Given the description of an element on the screen output the (x, y) to click on. 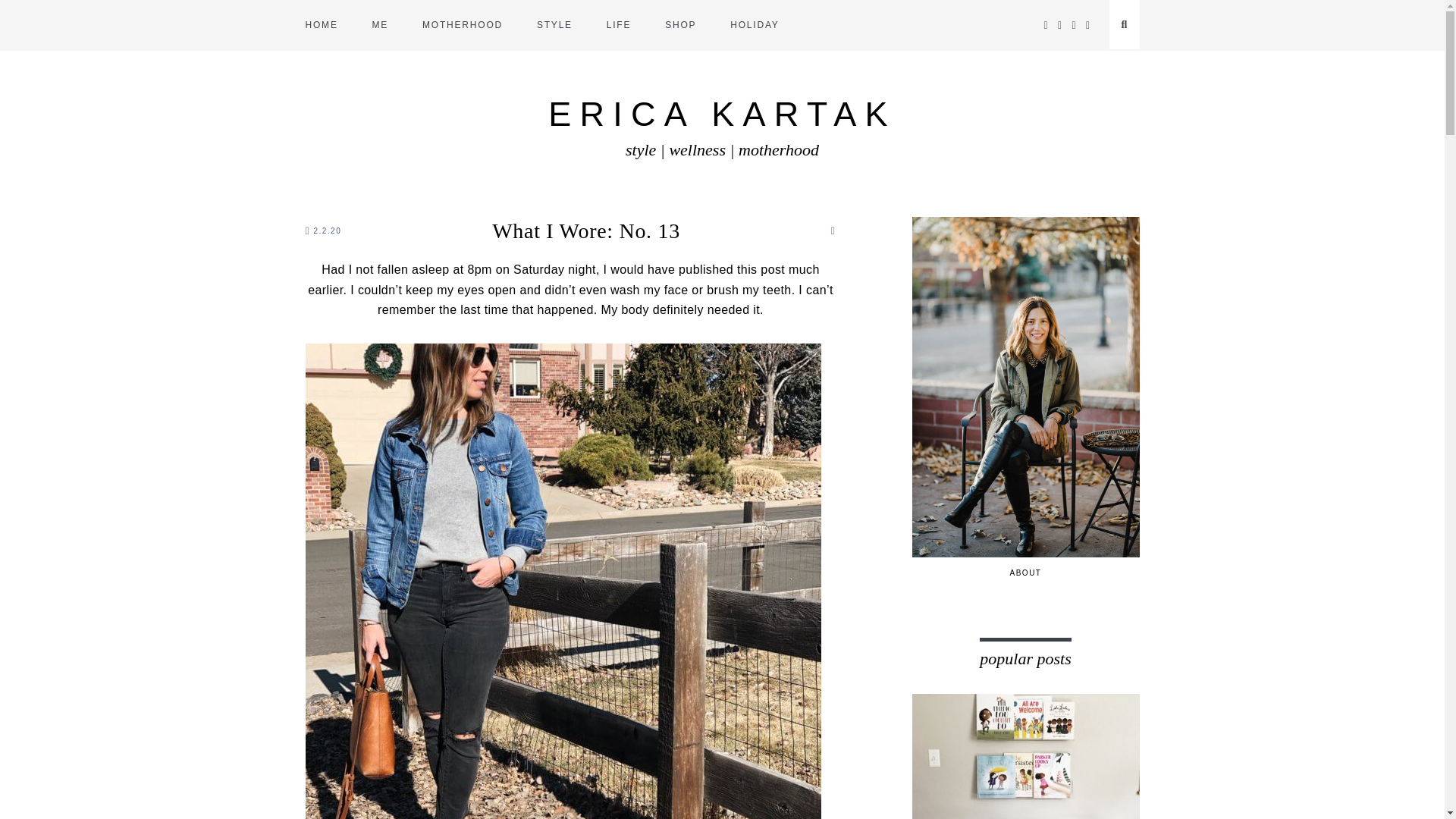
HOME (320, 25)
MOTHERHOOD (462, 25)
STYLE (554, 25)
